Given the description of an element on the screen output the (x, y) to click on. 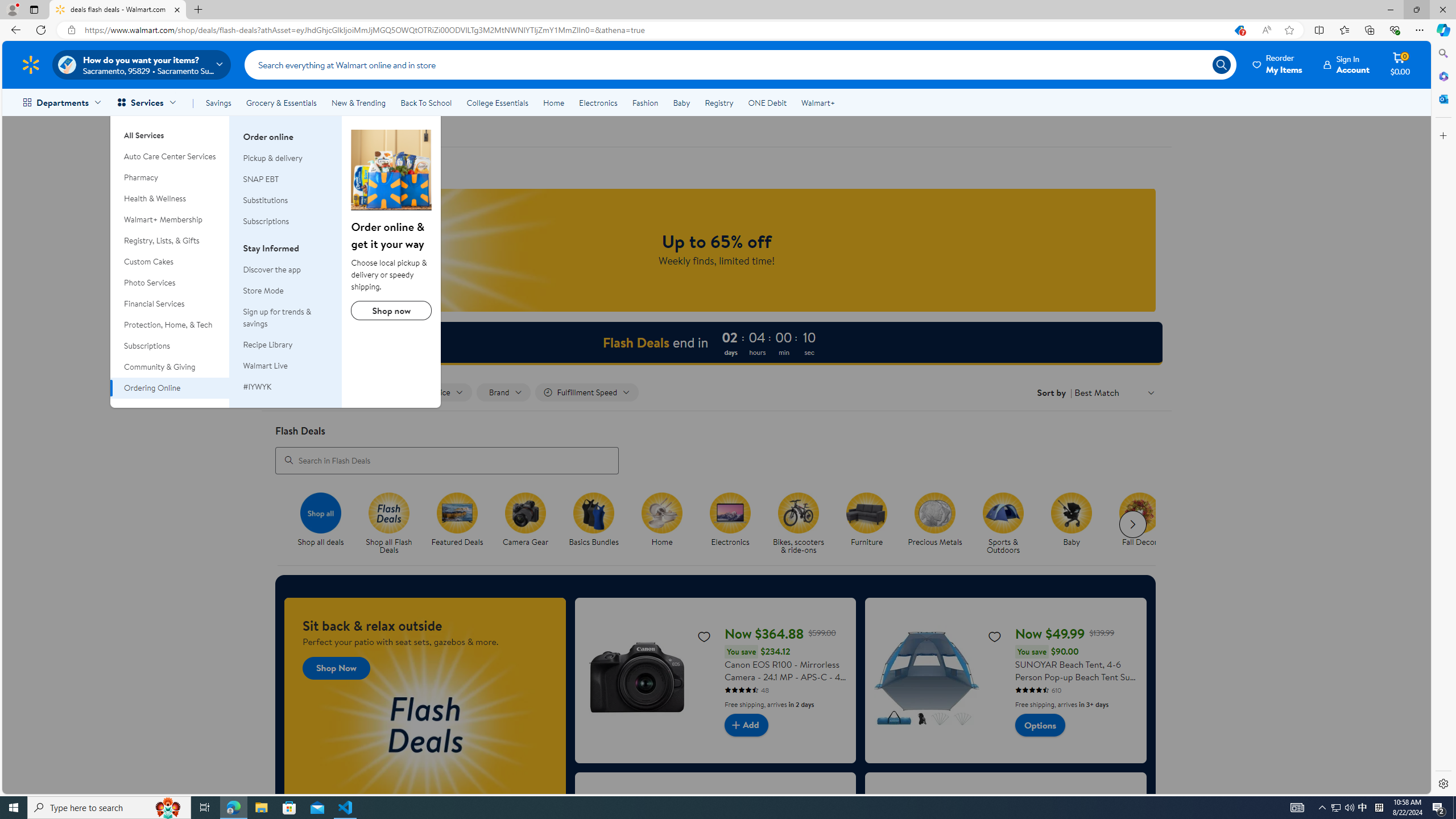
Electronics (598, 102)
Filter by Brand not applied, activate to change (503, 392)
Substitutions (265, 199)
Subscriptions (170, 345)
ONE Debit (767, 102)
Custom Cakes (170, 261)
Search in Flash Deals (446, 460)
deals flash deals - Walmart.com (117, 9)
Walmart+ Membership (170, 219)
Fashion (644, 102)
Savings (217, 102)
ReorderMy Items (1277, 64)
